Given the description of an element on the screen output the (x, y) to click on. 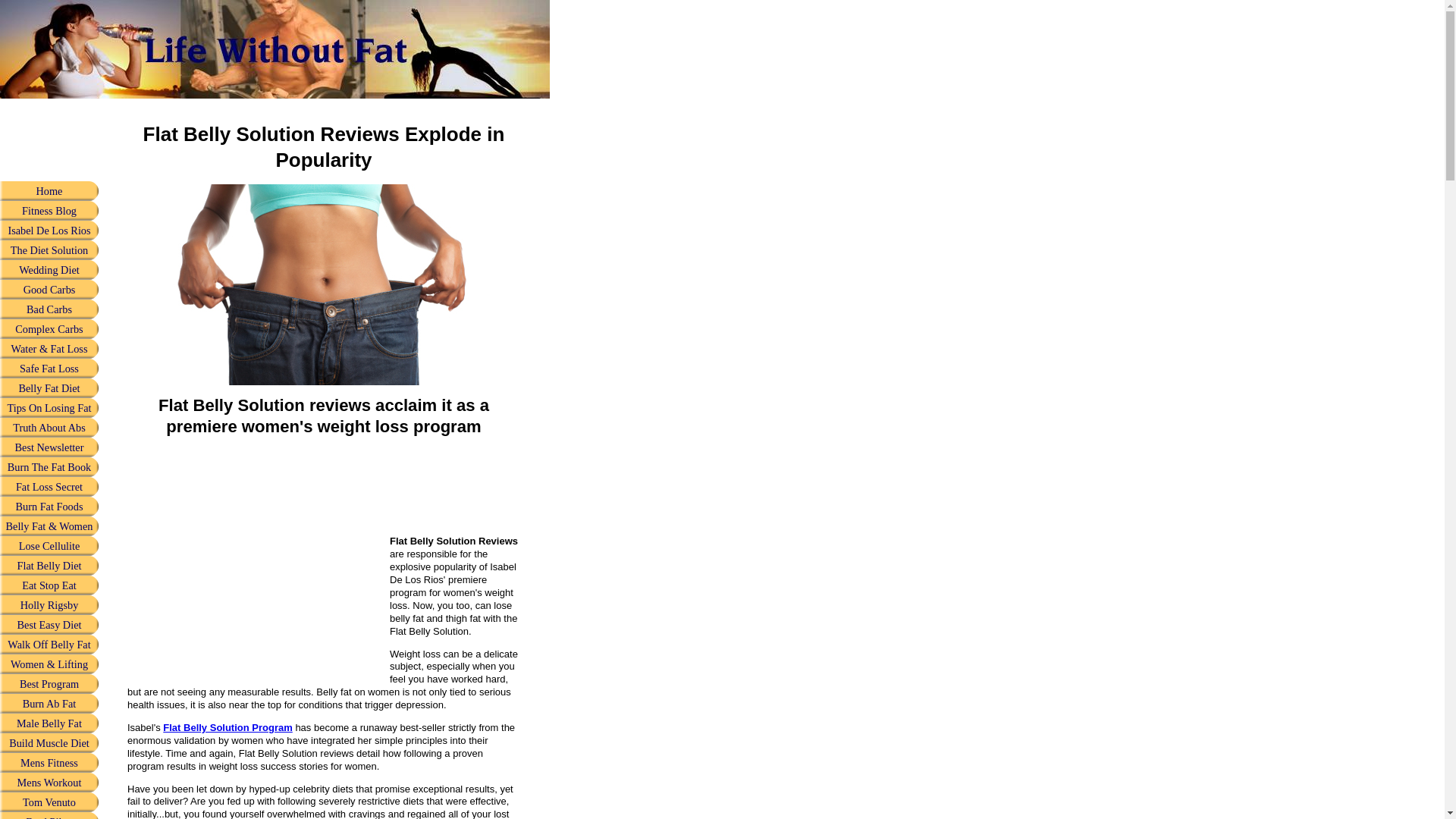
Best Program (49, 683)
Burn Fat Foods (49, 506)
flat belly soltion reviews have exploded in popularity (323, 284)
Mens Fitness (49, 762)
Holly Rigsby (49, 605)
Best Newsletter (49, 447)
Build Muscle Diet (49, 742)
Brad Pilon (49, 815)
Good Carbs (49, 289)
Best Easy Diet (49, 624)
Complex Carbs (49, 329)
Burn Ab Fat (49, 703)
Burn The Fat Book (49, 466)
Isabel De Los Rios (49, 230)
Advertisement (254, 554)
